Given the description of an element on the screen output the (x, y) to click on. 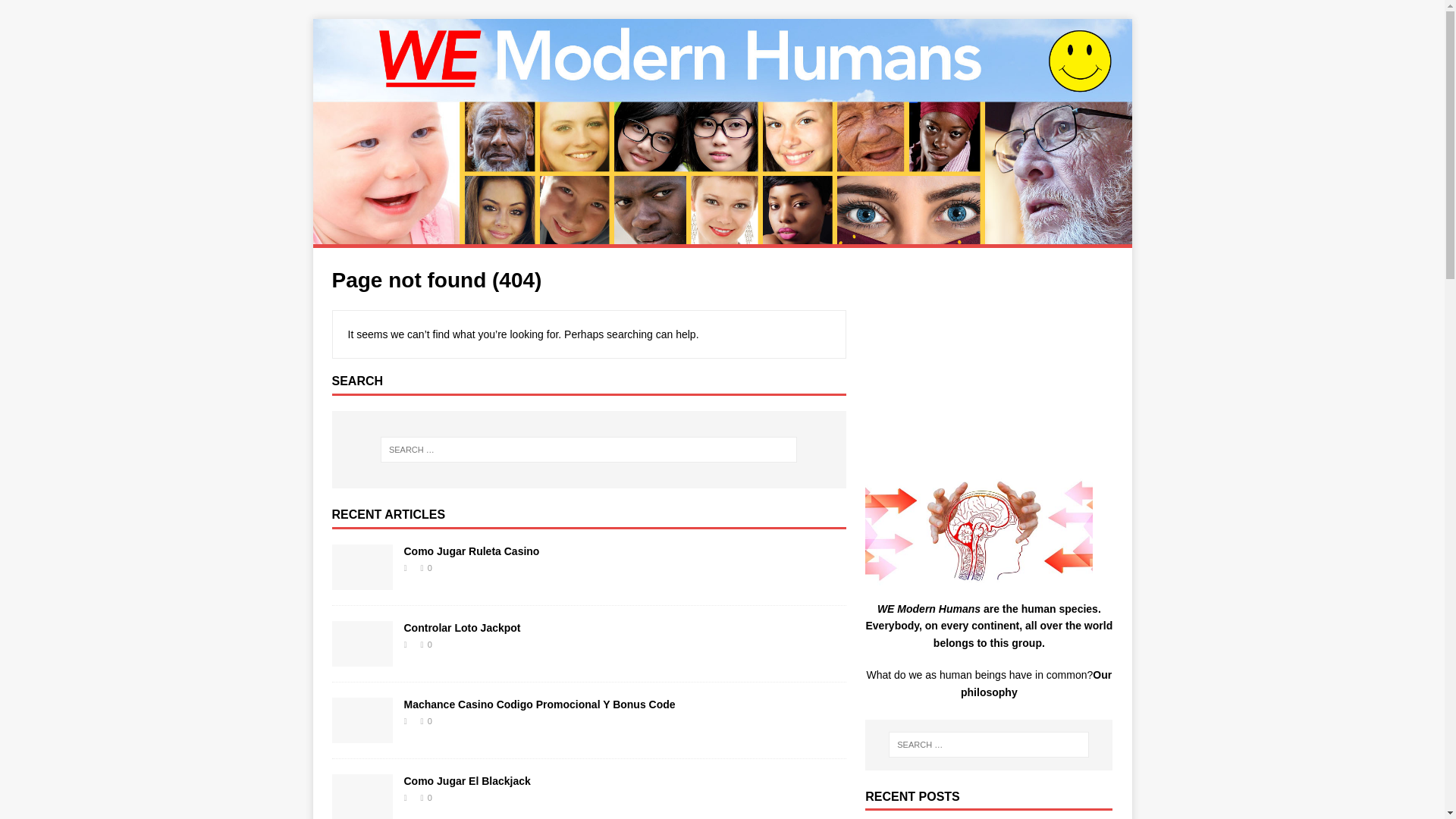
Machance Casino Codigo Promocional Y Bonus Code (539, 704)
Como Jugar El Blackjack (466, 780)
Controlar Loto Jackpot (362, 657)
Advertisement (988, 361)
Controlar Loto Jackpot (461, 627)
Machance Casino Codigo Promocional Y Bonus Code (539, 704)
Como Jugar Ruleta Casino (470, 551)
Our philosophy (1036, 683)
Como Jugar Ruleta Casino (362, 580)
WE Modern Humans (722, 235)
